Given the description of an element on the screen output the (x, y) to click on. 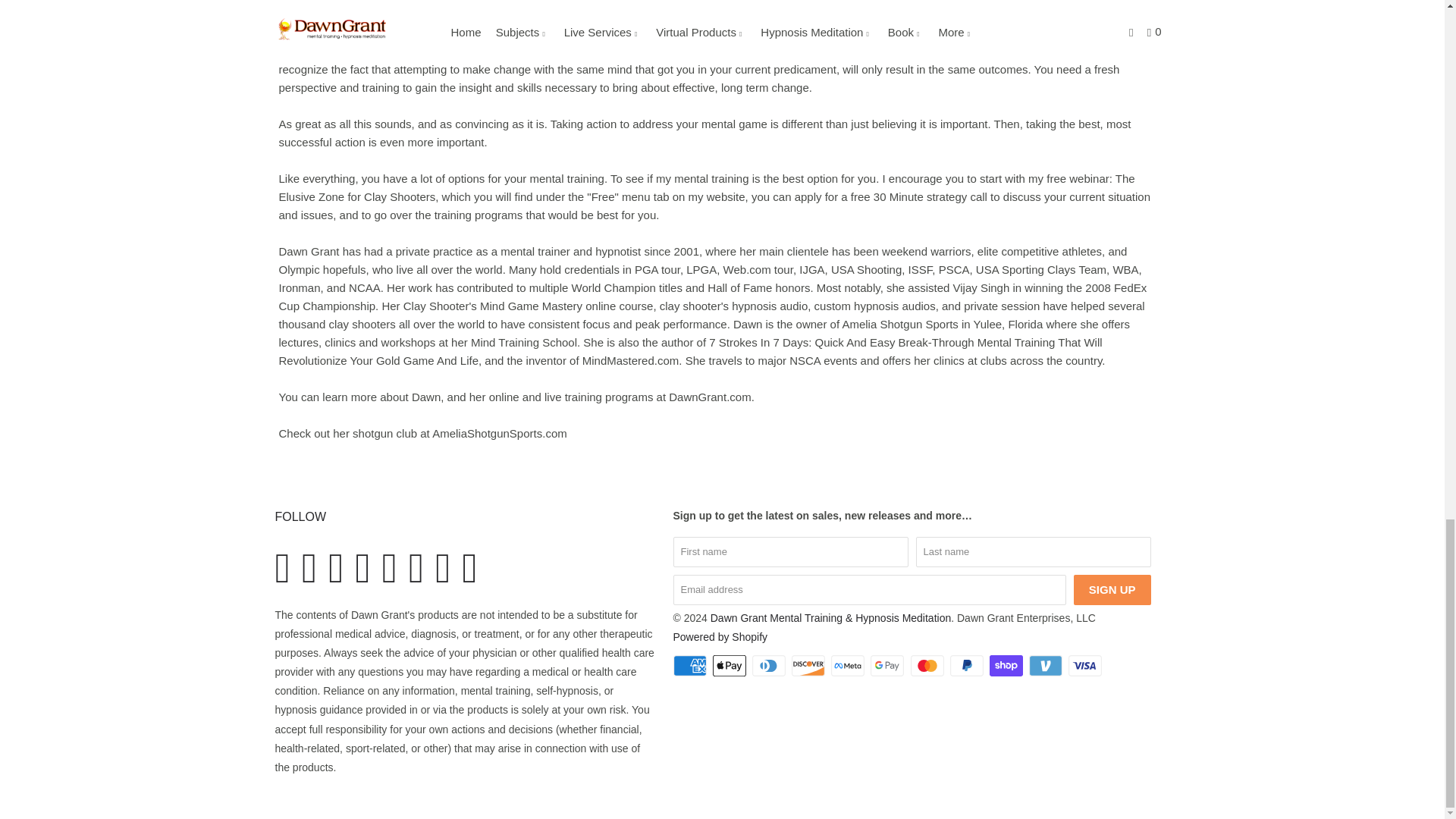
Visa (1086, 665)
Meta Pay (849, 665)
Diners Club (770, 665)
PayPal (968, 665)
Venmo (1047, 665)
Mastercard (929, 665)
American Express (691, 665)
Google Pay (888, 665)
Sign Up (1112, 589)
Apple Pay (731, 665)
